Given the description of an element on the screen output the (x, y) to click on. 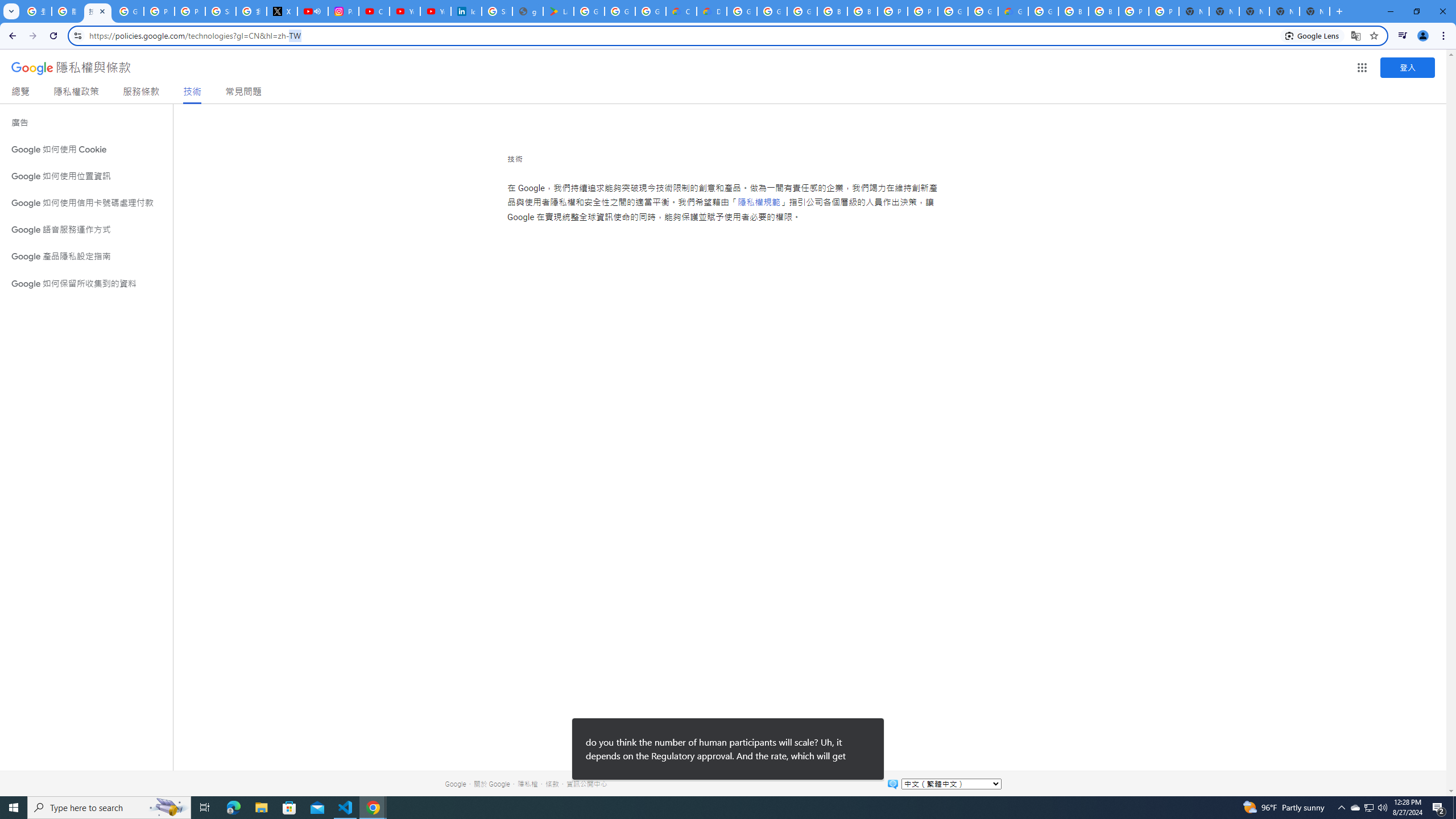
Browse Chrome as a guest - Computer - Google Chrome Help (832, 11)
google_privacy_policy_en.pdf (527, 11)
